Given the description of an element on the screen output the (x, y) to click on. 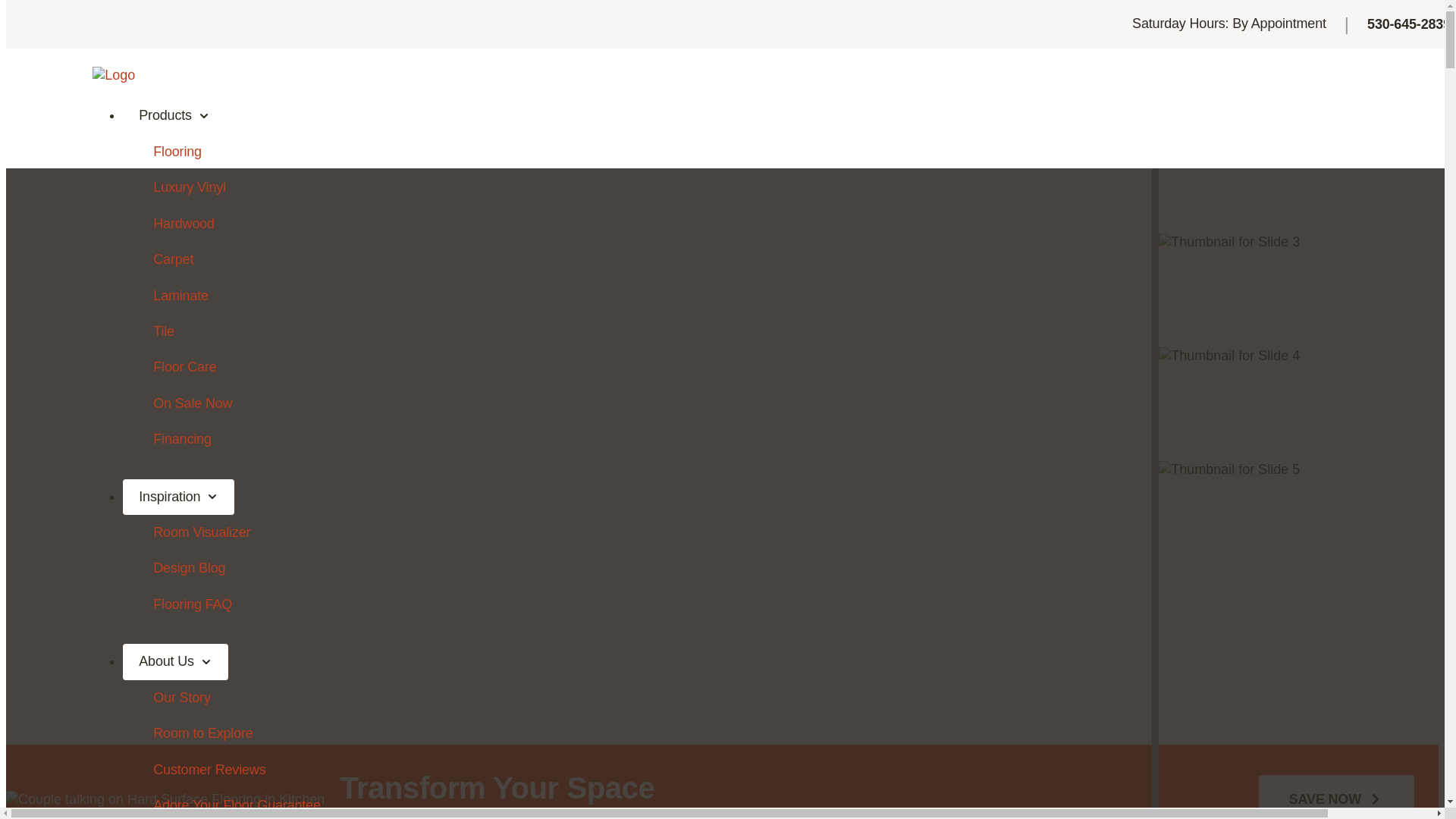
Financing Element type: text (761, 439)
Room to Explore Element type: text (761, 733)
Tile Element type: text (761, 331)
Room Visualizer Element type: text (761, 532)
Hardwood Element type: text (761, 223)
Laminate Element type: text (761, 295)
Design Blog Element type: text (761, 568)
Customer Reviews Element type: text (761, 769)
On Sale Now Element type: text (761, 403)
Carpet Element type: text (761, 259)
About Us Element type: text (175, 661)
Our Story Element type: text (761, 697)
Flooring Element type: text (761, 151)
Floor Care Element type: text (761, 367)
Products Element type: text (173, 115)
Luxury Vinyl Element type: text (761, 187)
530-645-2839 Element type: text (1408, 24)
Flooring FAQ Element type: text (761, 604)
Inspiration Element type: text (178, 497)
